Given the description of an element on the screen output the (x, y) to click on. 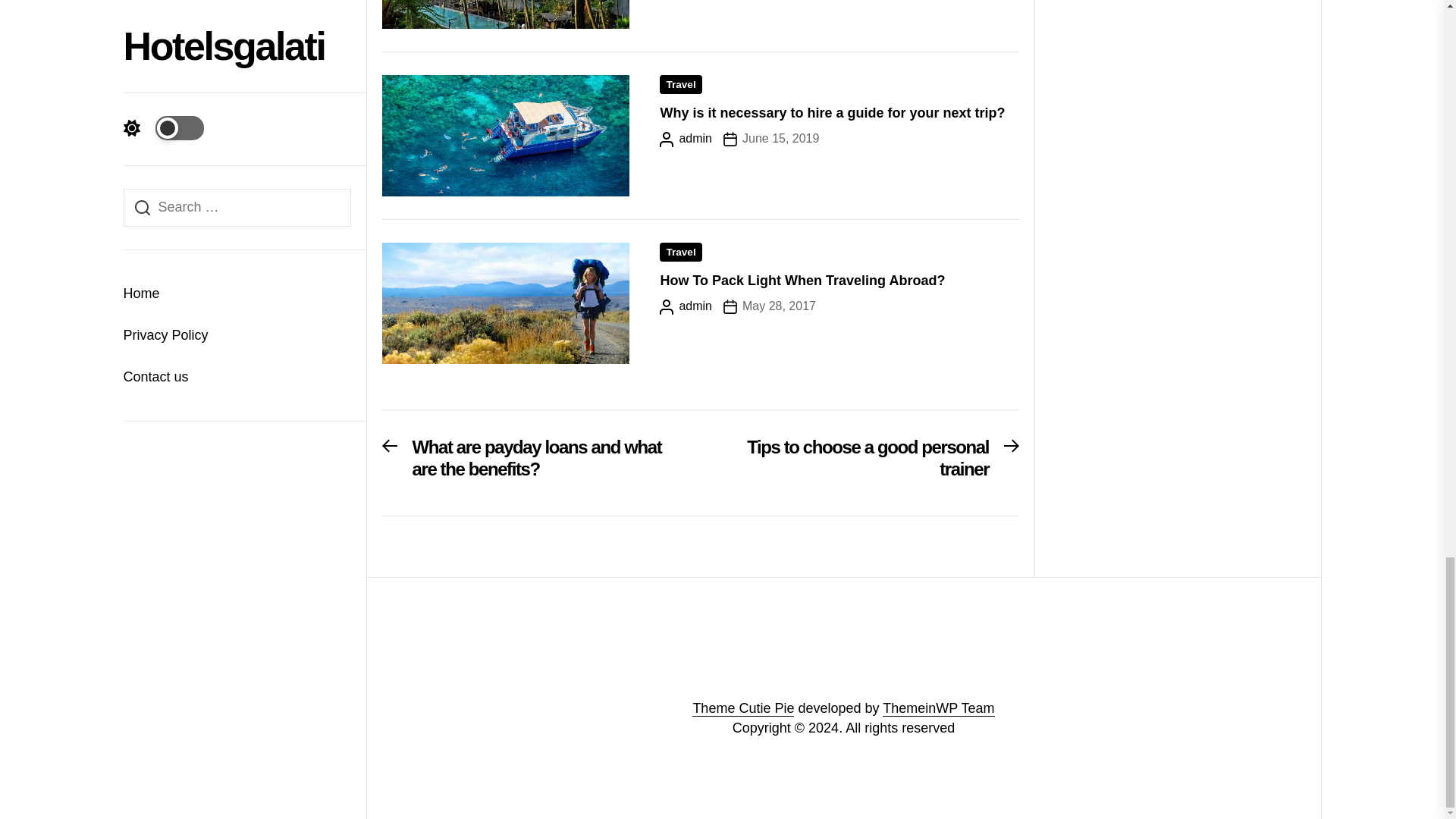
Why is it necessary to hire a guide for your next trip? (831, 112)
Travel (680, 251)
May 28, 2017 (769, 306)
admin (685, 306)
How To Pack Light When Traveling Abroad? (801, 280)
admin (685, 138)
June 15, 2019 (770, 138)
Travel (867, 462)
